Given the description of an element on the screen output the (x, y) to click on. 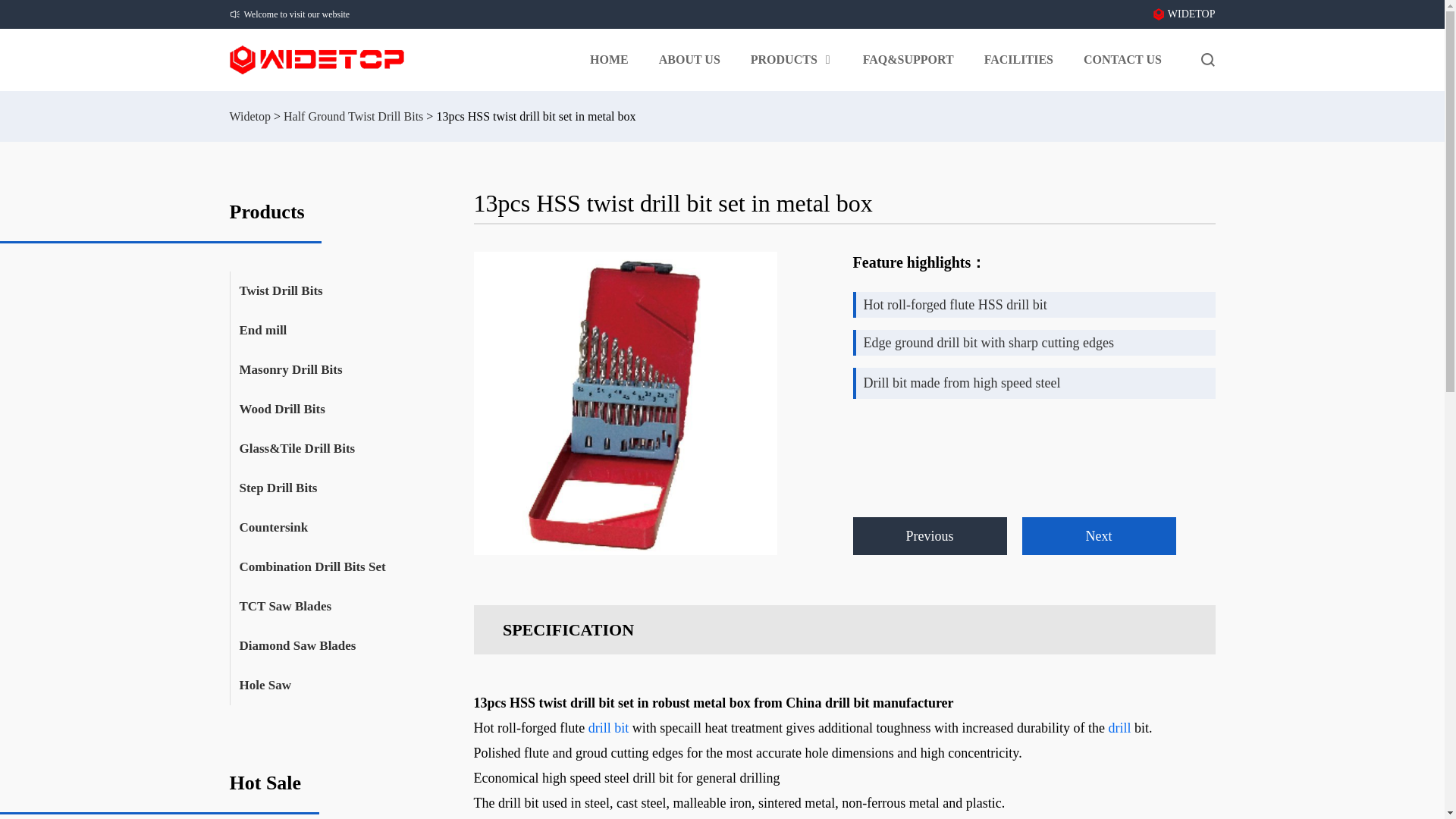
13pcs HSS twist drill bit set in metal box (624, 403)
ABOUT US (689, 59)
CONTACT US (1122, 59)
FACILITIES (1018, 59)
Half Ground Twist Drill Bits (353, 116)
PRODUCTS (791, 59)
Widetop (248, 116)
